Given the description of an element on the screen output the (x, y) to click on. 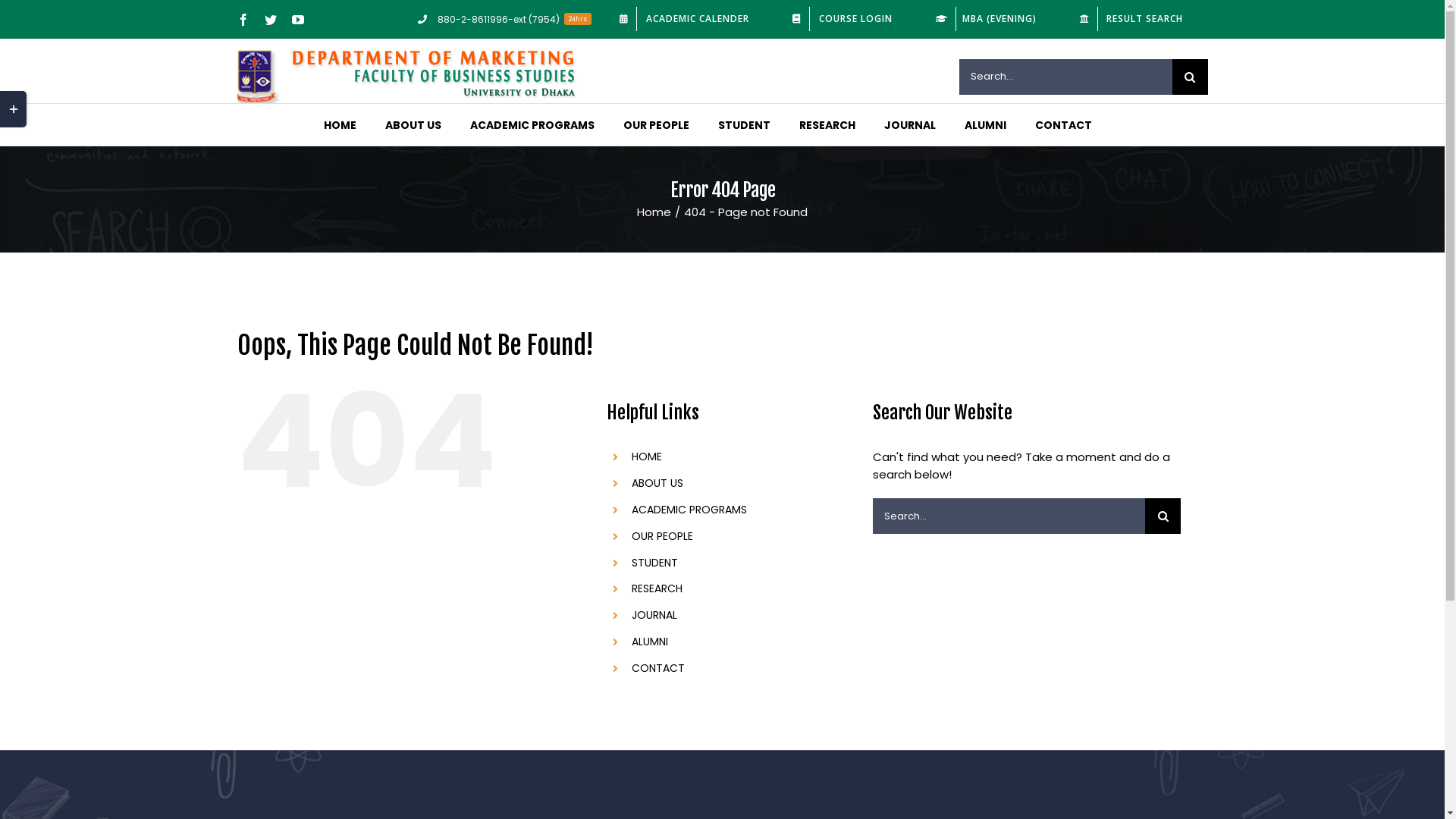
Home Element type: text (654, 211)
facebook Element type: text (242, 19)
HOME Element type: text (339, 124)
HOME Element type: text (646, 456)
ACADEMIC CALENDER Element type: text (688, 18)
ABOUT US Element type: text (657, 482)
STUDENT Element type: text (654, 562)
STUDENT Element type: text (744, 124)
ALUMNI Element type: text (985, 124)
COURSE LOGIN Element type: text (846, 18)
OUR PEOPLE Element type: text (656, 124)
ACADEMIC PROGRAMS Element type: text (688, 509)
MBA (EVENING) Element type: text (989, 18)
ALUMNI Element type: text (649, 641)
CONTACT Element type: text (657, 667)
youtube Element type: text (297, 19)
ABOUT US Element type: text (413, 124)
JOURNAL Element type: text (654, 614)
Toggle Sliding Bar Area Element type: text (13, 109)
RESEARCH Element type: text (827, 124)
RESULT SEARCH Element type: text (1135, 18)
OUR PEOPLE Element type: text (662, 535)
ACADEMIC PROGRAMS Element type: text (532, 124)
CONTACT Element type: text (1063, 124)
JOURNAL Element type: text (909, 124)
twitter Element type: text (269, 19)
880-2-8611996-ext (7954)
24hrs Element type: text (504, 18)
RESEARCH Element type: text (656, 588)
